Given the description of an element on the screen output the (x, y) to click on. 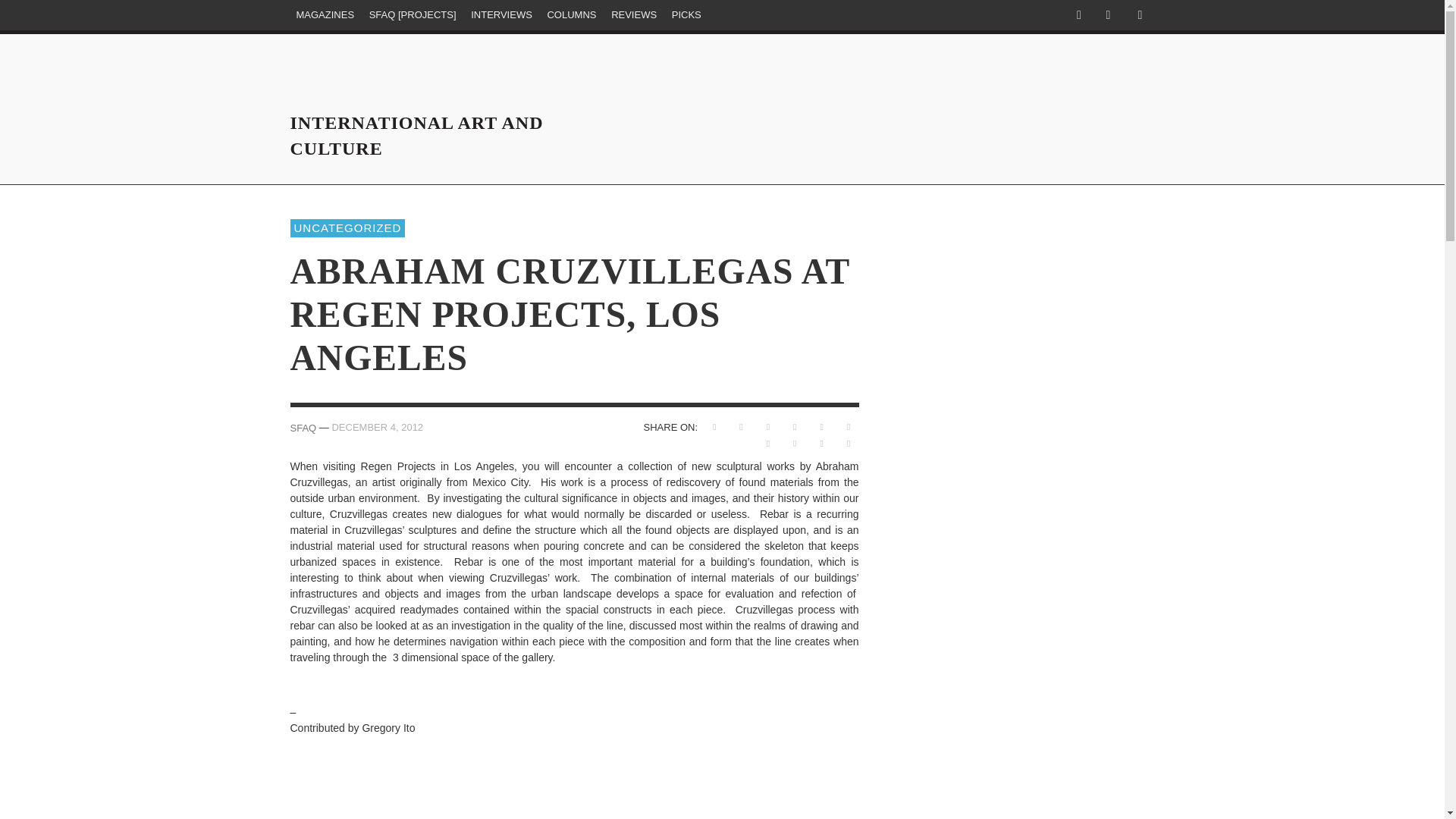
MAGAZINES (324, 15)
Twitter (1107, 15)
Facebook (1078, 15)
REVIEWS (633, 15)
COLUMNS (571, 15)
INTERVIEWS (501, 15)
